Given the description of an element on the screen output the (x, y) to click on. 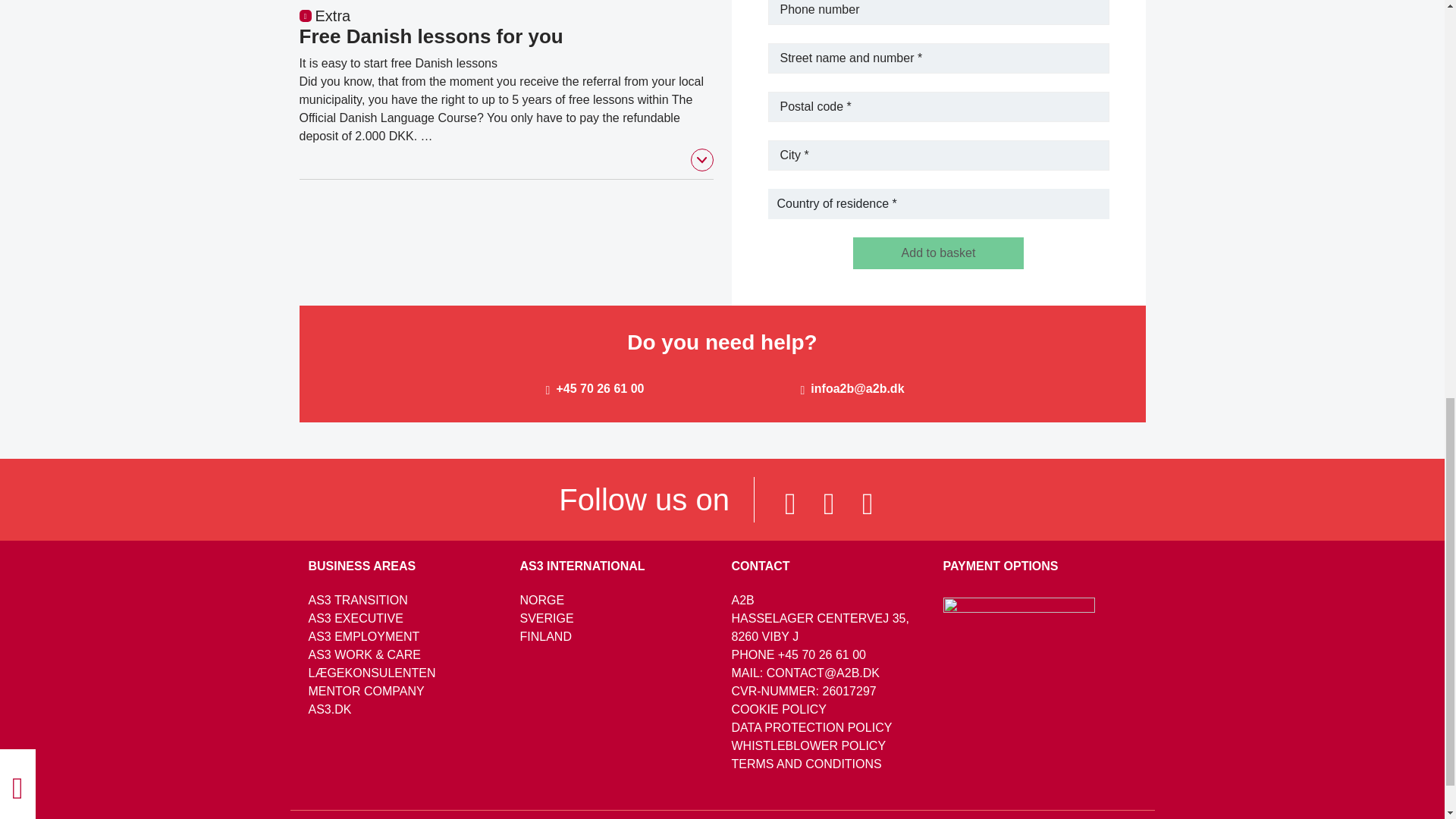
SVERIGE (546, 617)
HASSELAGER CENTERVEJ 35, 8260 VIBY J (819, 626)
MENTOR COMPANY (365, 690)
FINLAND (545, 635)
DATA PROTECTION POLICY (810, 727)
COOKIE POLICY (777, 708)
Add to basket (938, 253)
AS3 EXECUTIVE (355, 617)
AS3 EMPLOYMENT (363, 635)
Terms and Conditions (805, 763)
